Given the description of an element on the screen output the (x, y) to click on. 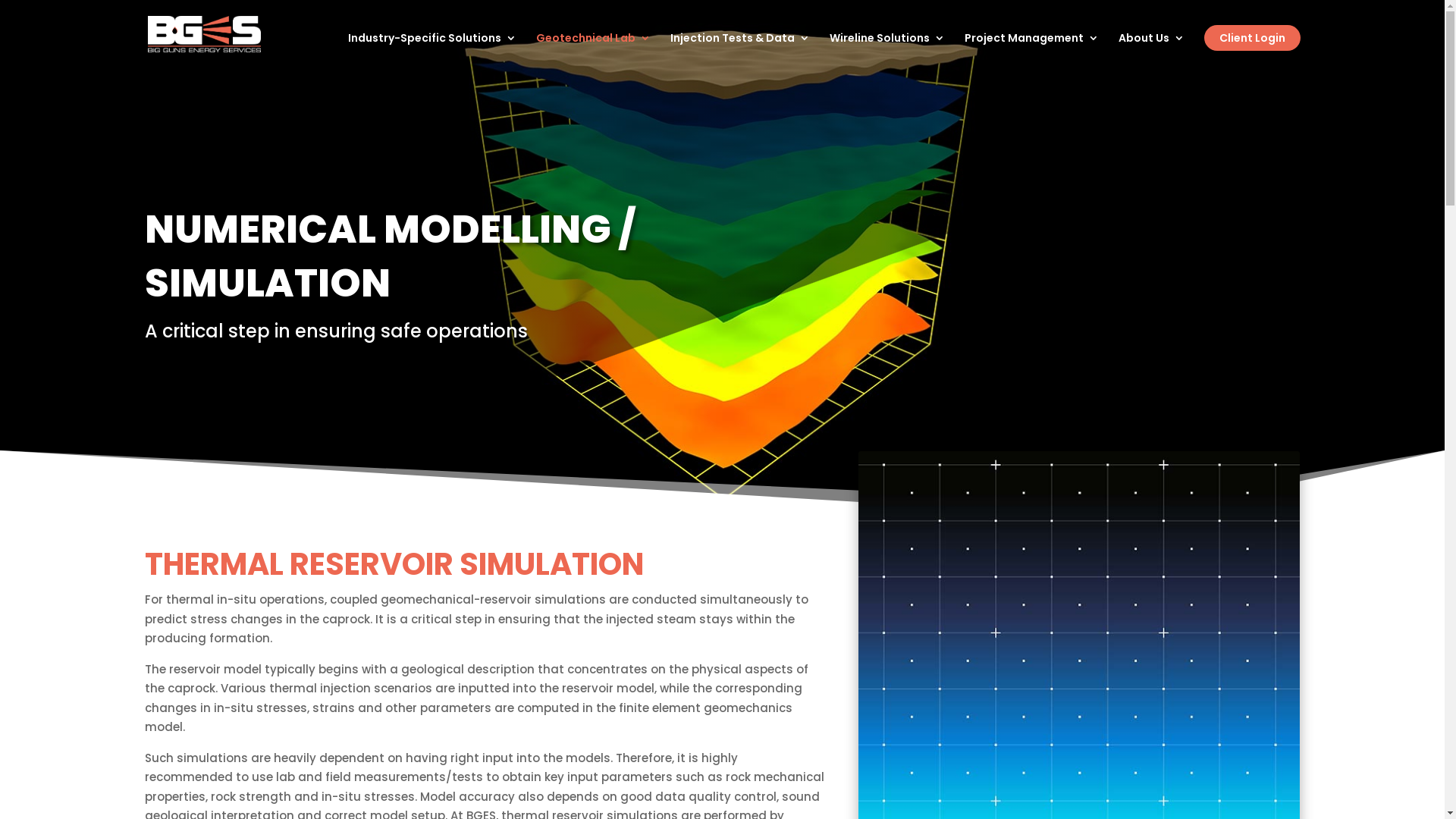
Wireline Solutions Element type: text (886, 50)
Client Login Element type: text (1252, 37)
Project Management Element type: text (1031, 50)
Injection Tests & Data Element type: text (739, 50)
Industry-Specific Solutions Element type: text (431, 50)
About Us Element type: text (1150, 50)
Geotechnical Lab Element type: text (592, 50)
